Given the description of an element on the screen output the (x, y) to click on. 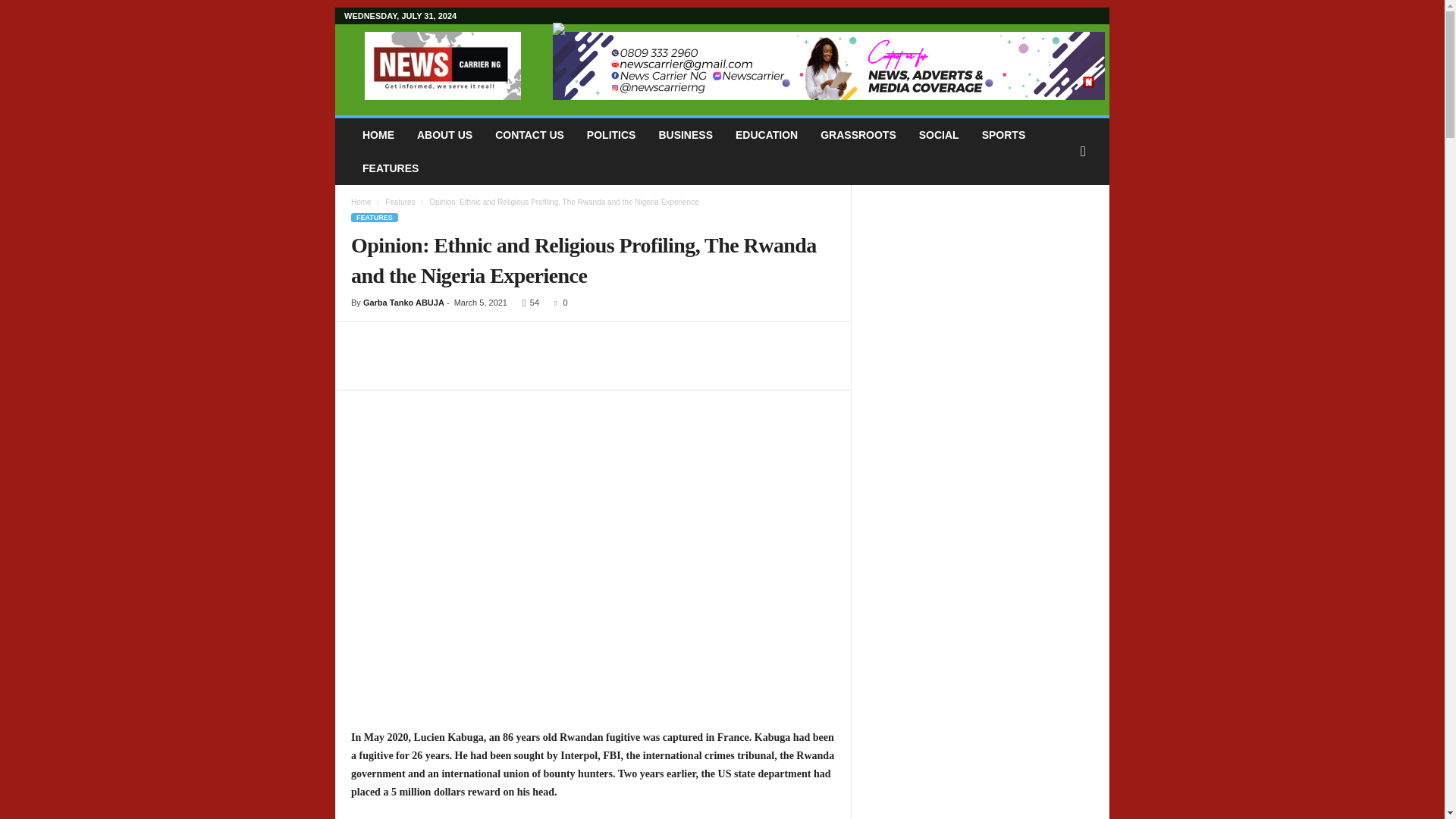
BUSINESS (684, 134)
FEATURES (389, 168)
FEATURES (373, 216)
Home (360, 202)
CONTACT US (529, 134)
ABOUT US (444, 134)
View all posts in Features (399, 202)
Features (399, 202)
HOME (378, 134)
SOCIAL (939, 134)
POLITICS (611, 134)
SPORTS (1003, 134)
Garba Tanko ABUJA (403, 302)
topFacebookLike (390, 336)
0 (557, 302)
